Given the description of an element on the screen output the (x, y) to click on. 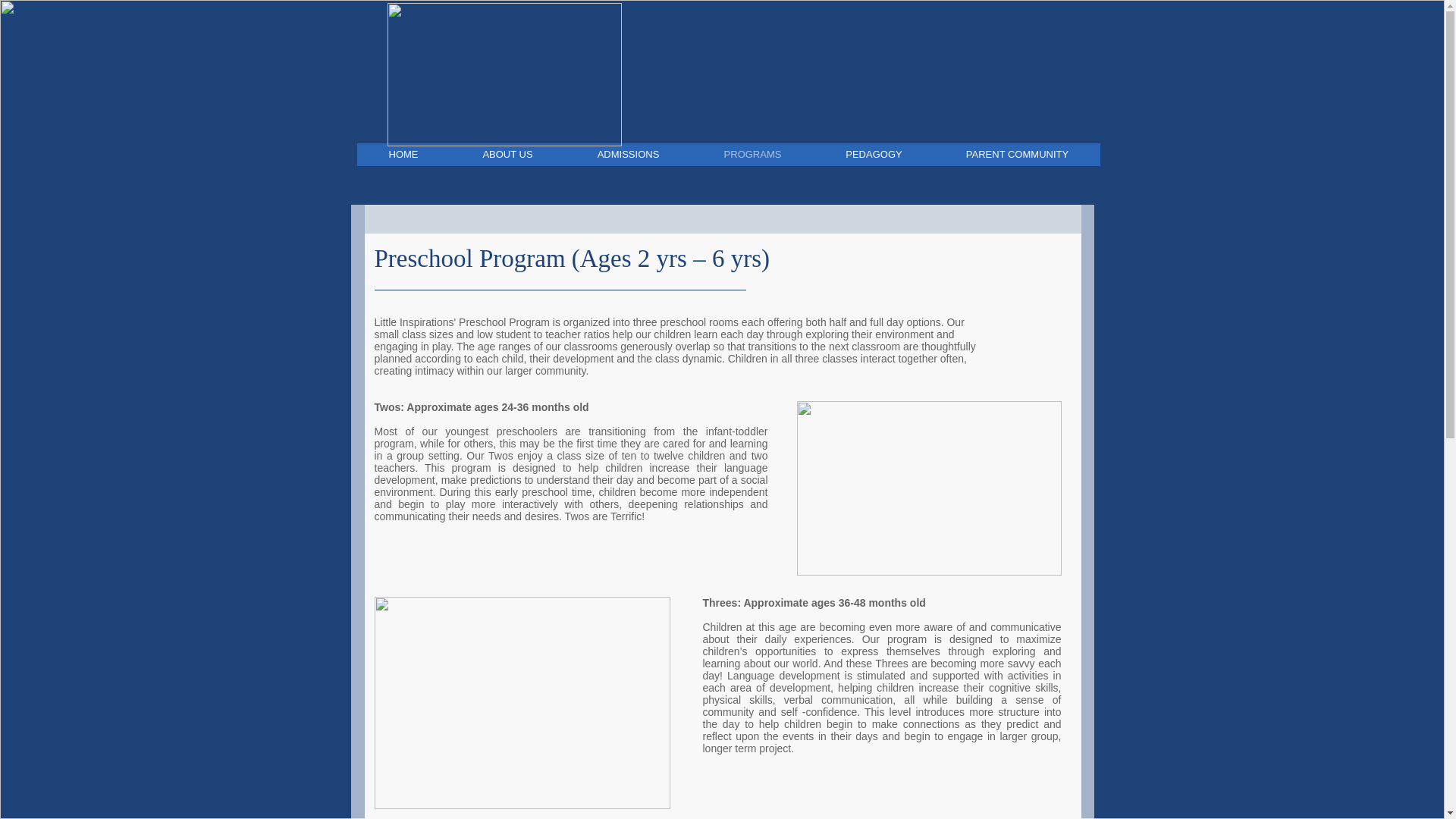
PROGRAMS (752, 154)
ABOUT US (506, 154)
ADMISSIONS (627, 154)
HOME (402, 154)
PEDAGOGY (872, 154)
little insp logo.png (504, 74)
PARENT COMMUNITY (1017, 154)
